Given the description of an element on the screen output the (x, y) to click on. 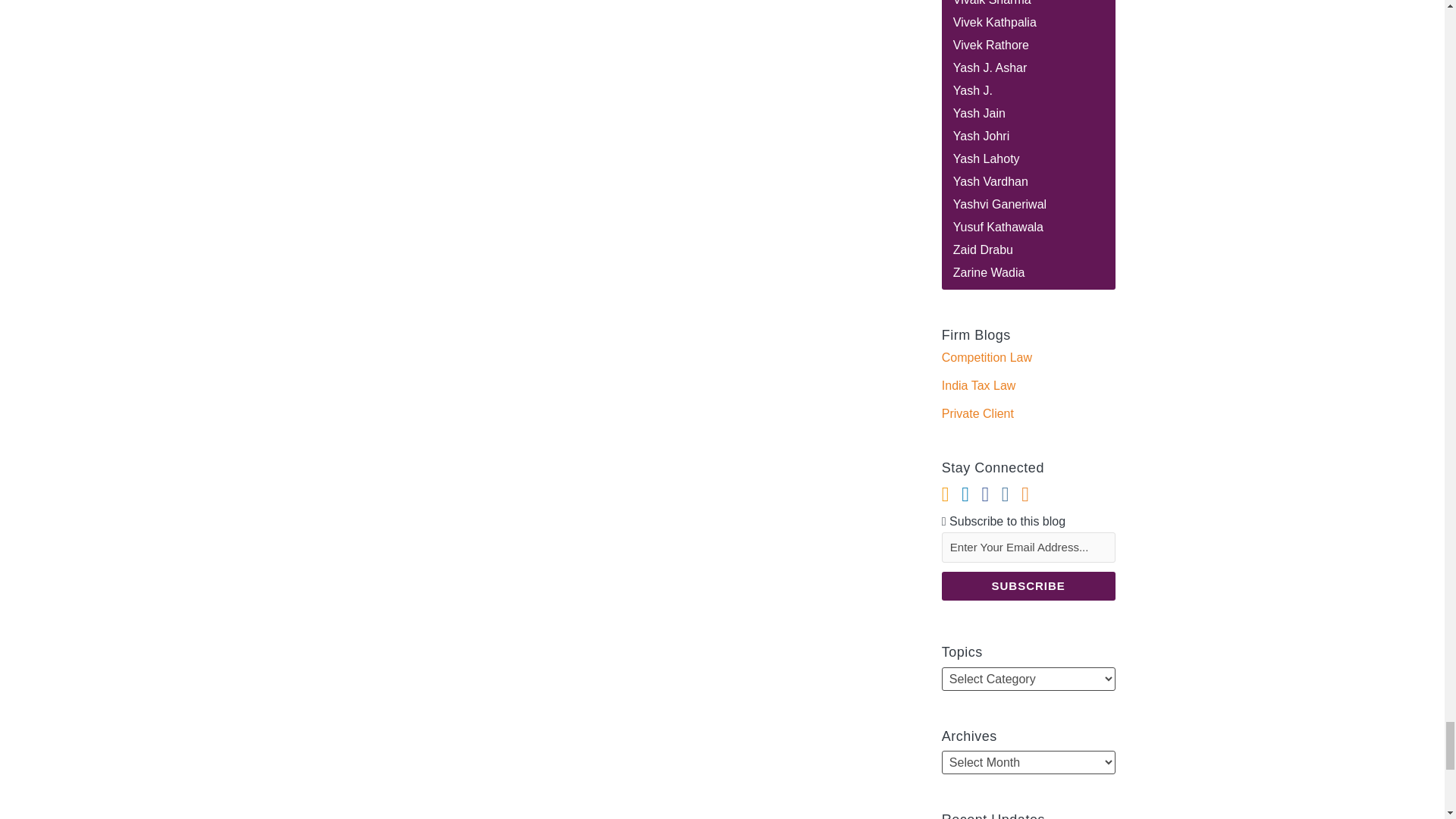
Subscribe (1028, 585)
